Given the description of an element on the screen output the (x, y) to click on. 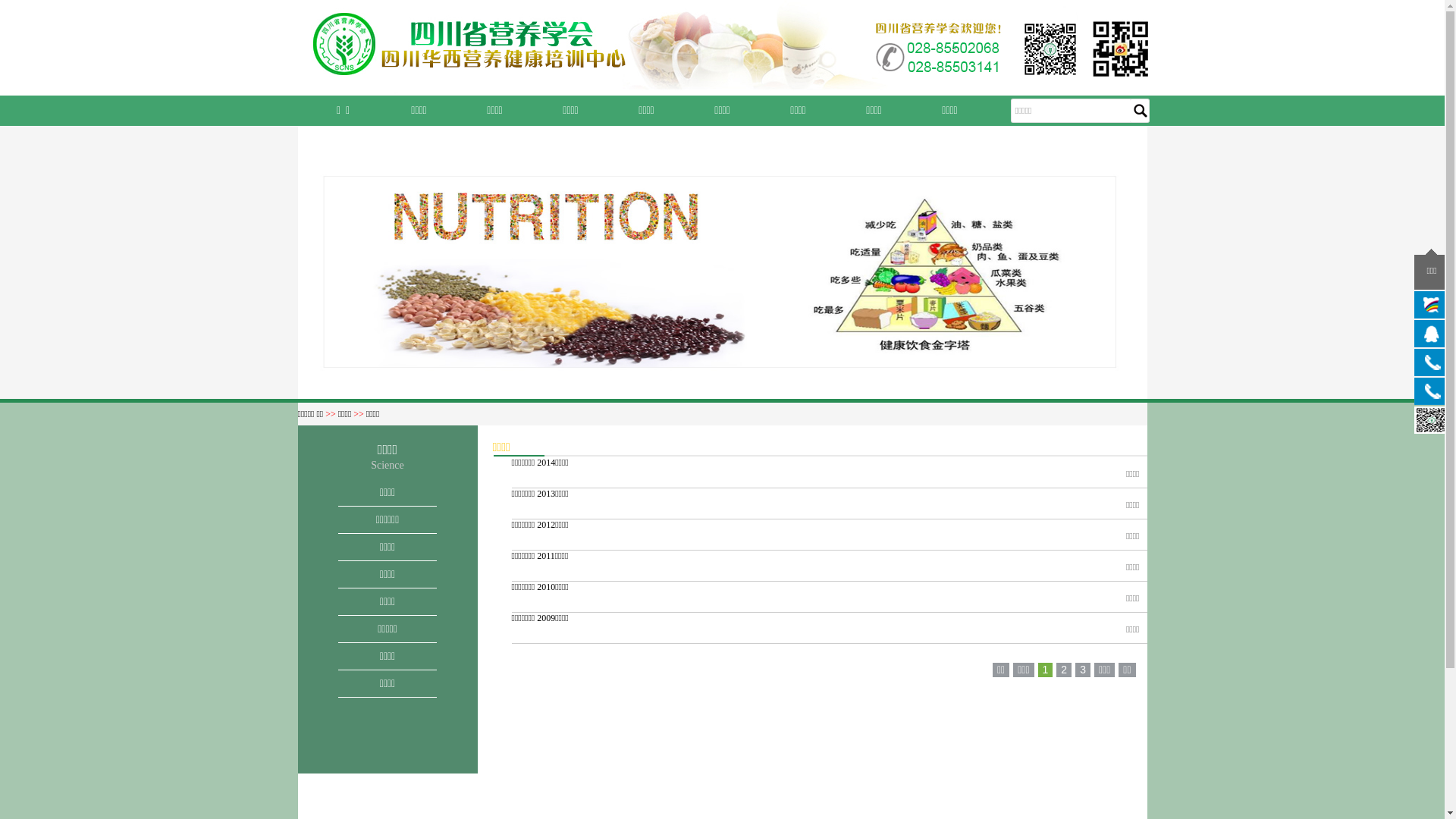
2 Element type: text (1063, 669)
3 Element type: text (1082, 669)
1 Element type: text (1045, 669)
